Given the description of an element on the screen output the (x, y) to click on. 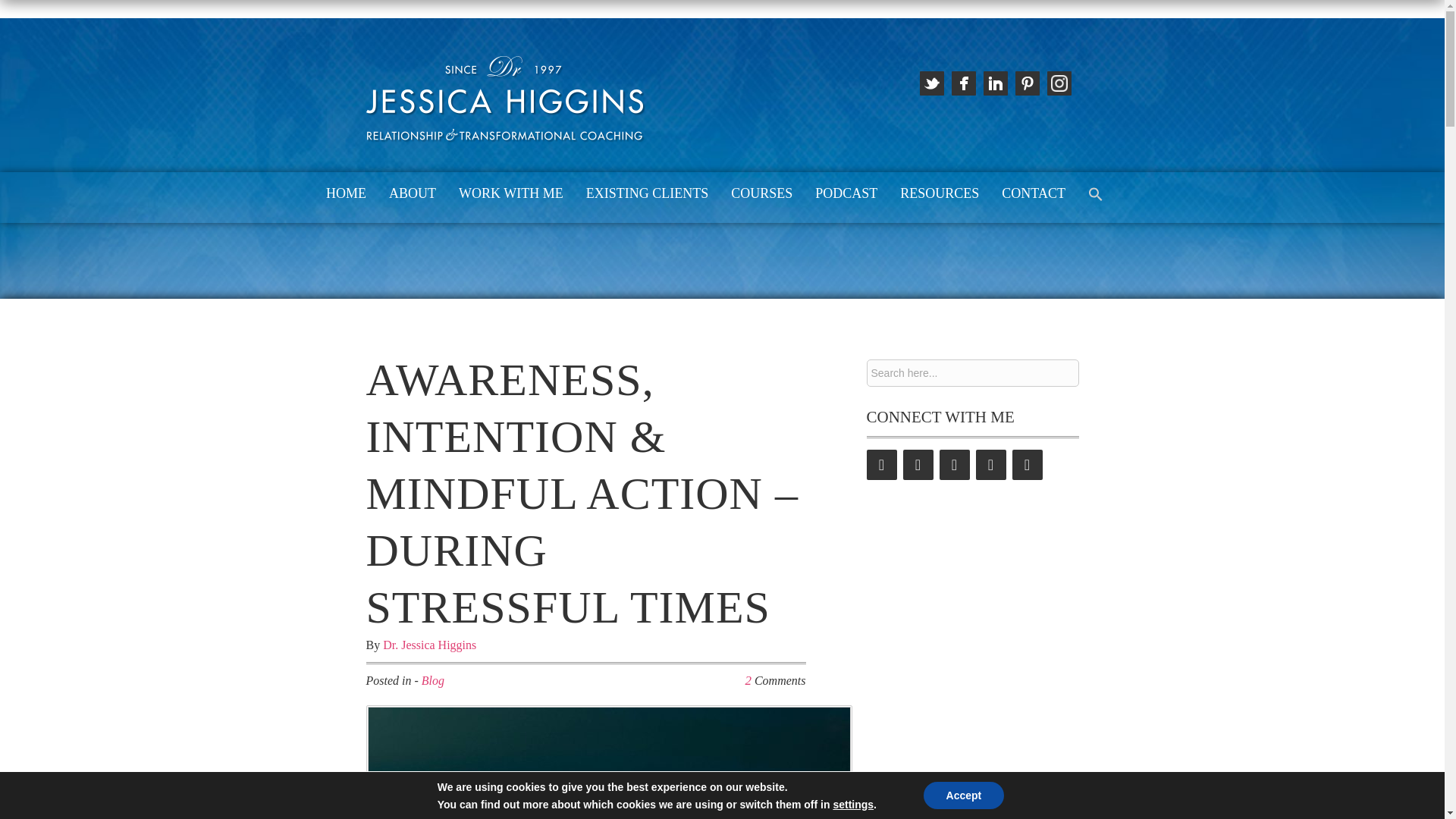
View Linkedin Profile (994, 83)
Twitter (881, 464)
Facebook (917, 464)
EXISTING CLIENTS (646, 194)
Pinterest (990, 464)
RESOURCES (939, 194)
HOME (345, 194)
Jessica Higgins (505, 139)
COURSES (761, 194)
LinkedIn (954, 464)
